Given the description of an element on the screen output the (x, y) to click on. 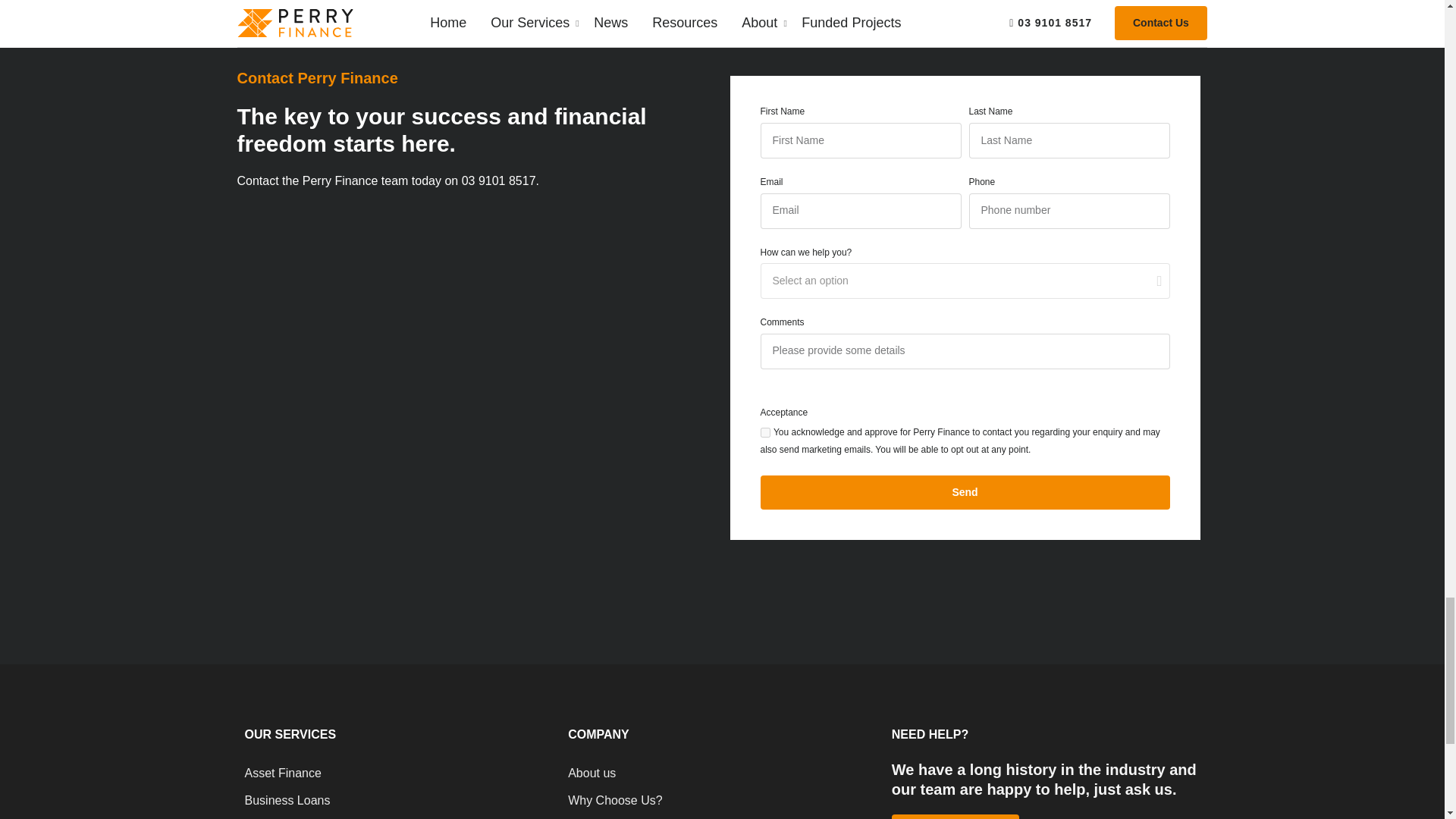
on (765, 432)
